Given the description of an element on the screen output the (x, y) to click on. 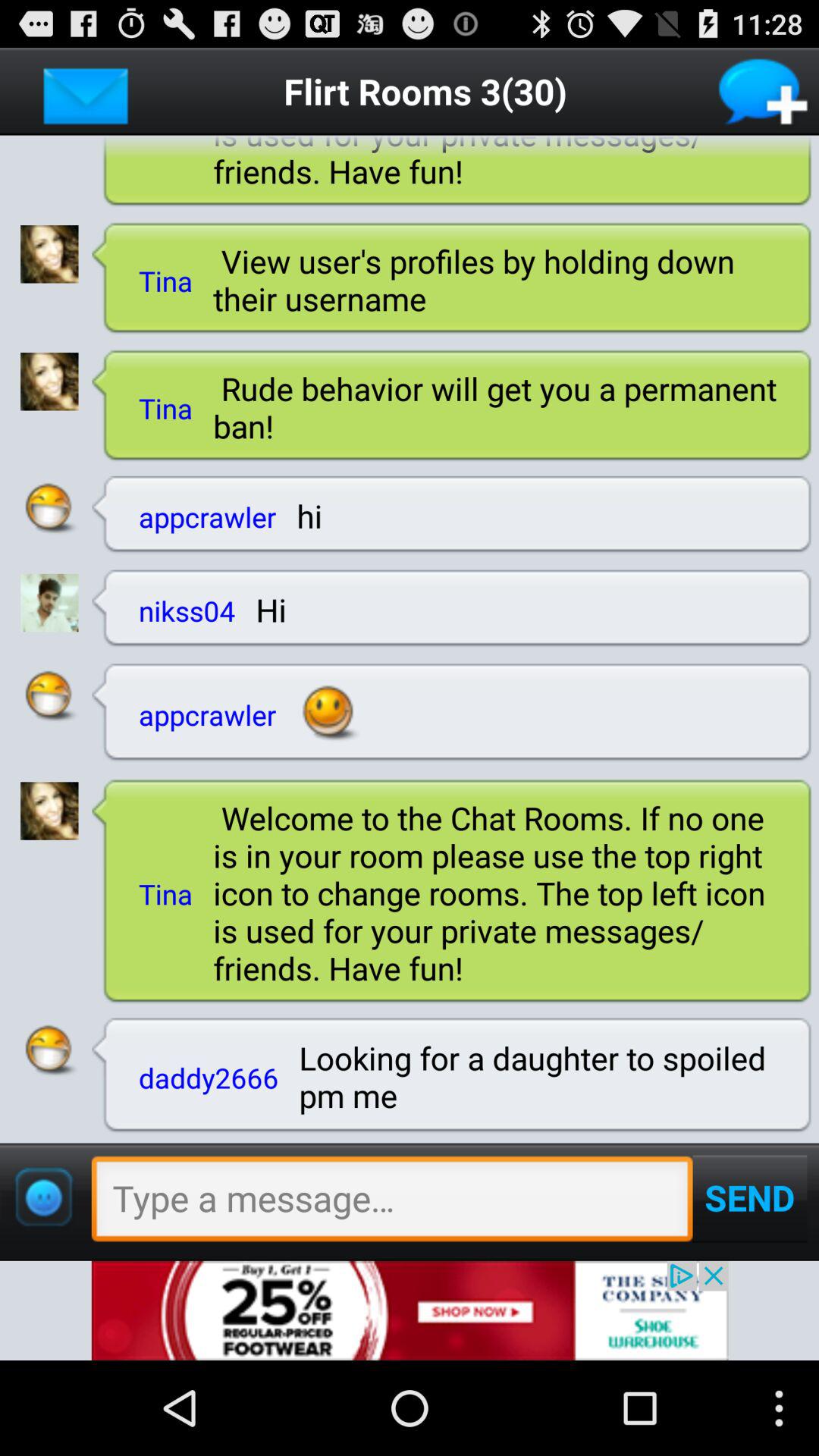
user photo (49, 381)
